Given the description of an element on the screen output the (x, y) to click on. 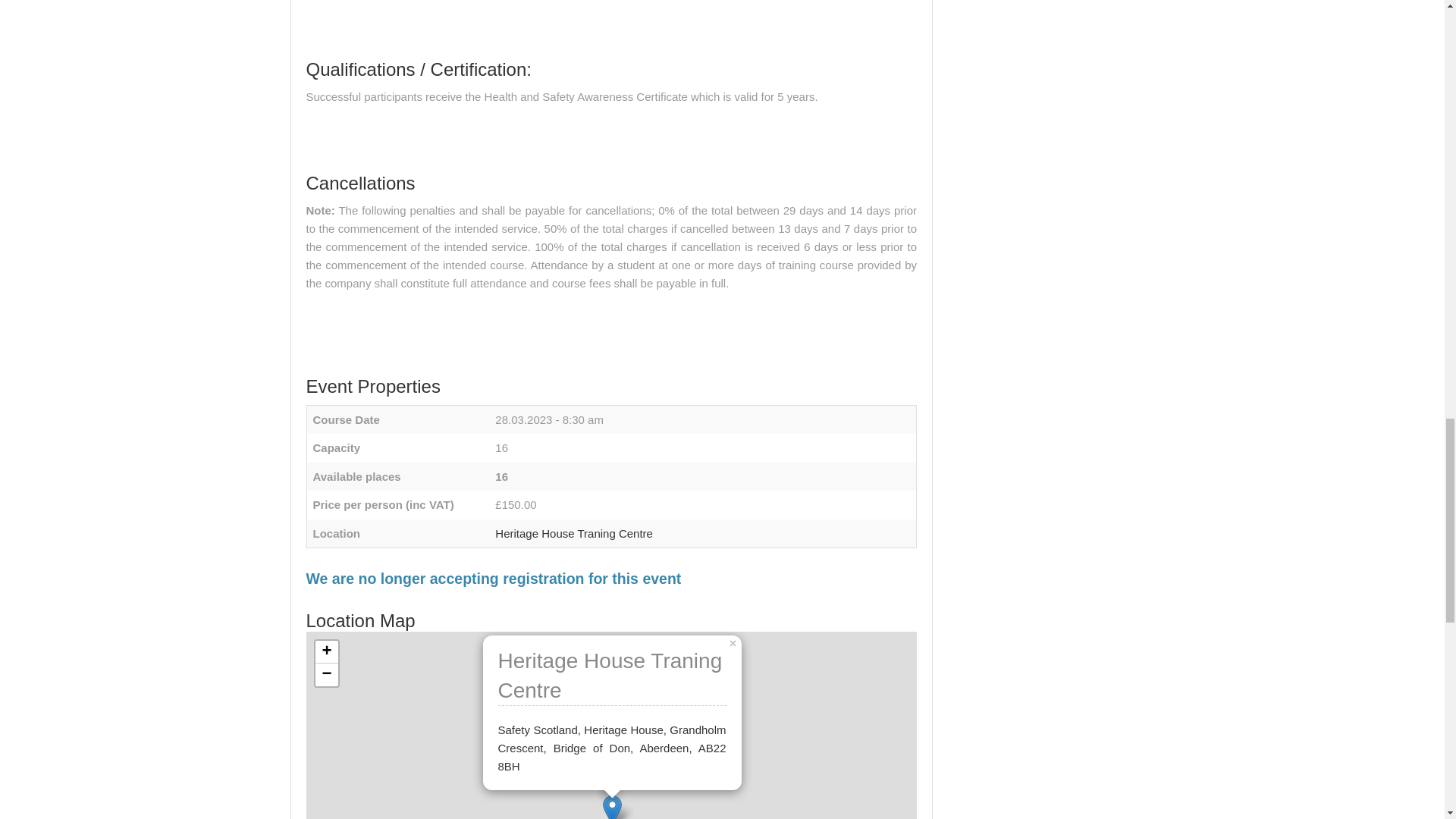
Zoom in (326, 651)
Zoom out (326, 674)
Heritage House Traning Centre (573, 533)
